Given the description of an element on the screen output the (x, y) to click on. 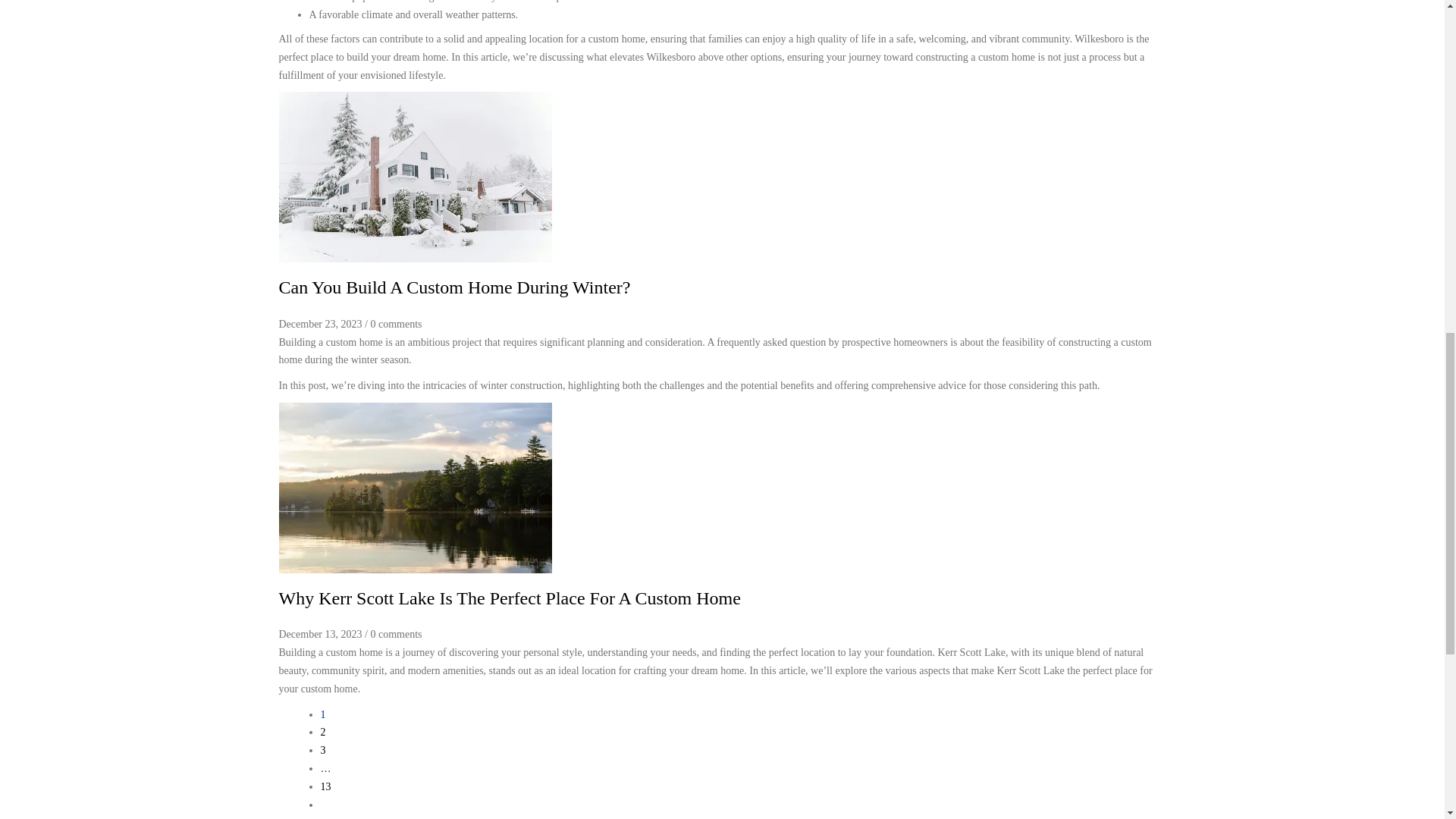
13 (325, 786)
